Given the description of an element on the screen output the (x, y) to click on. 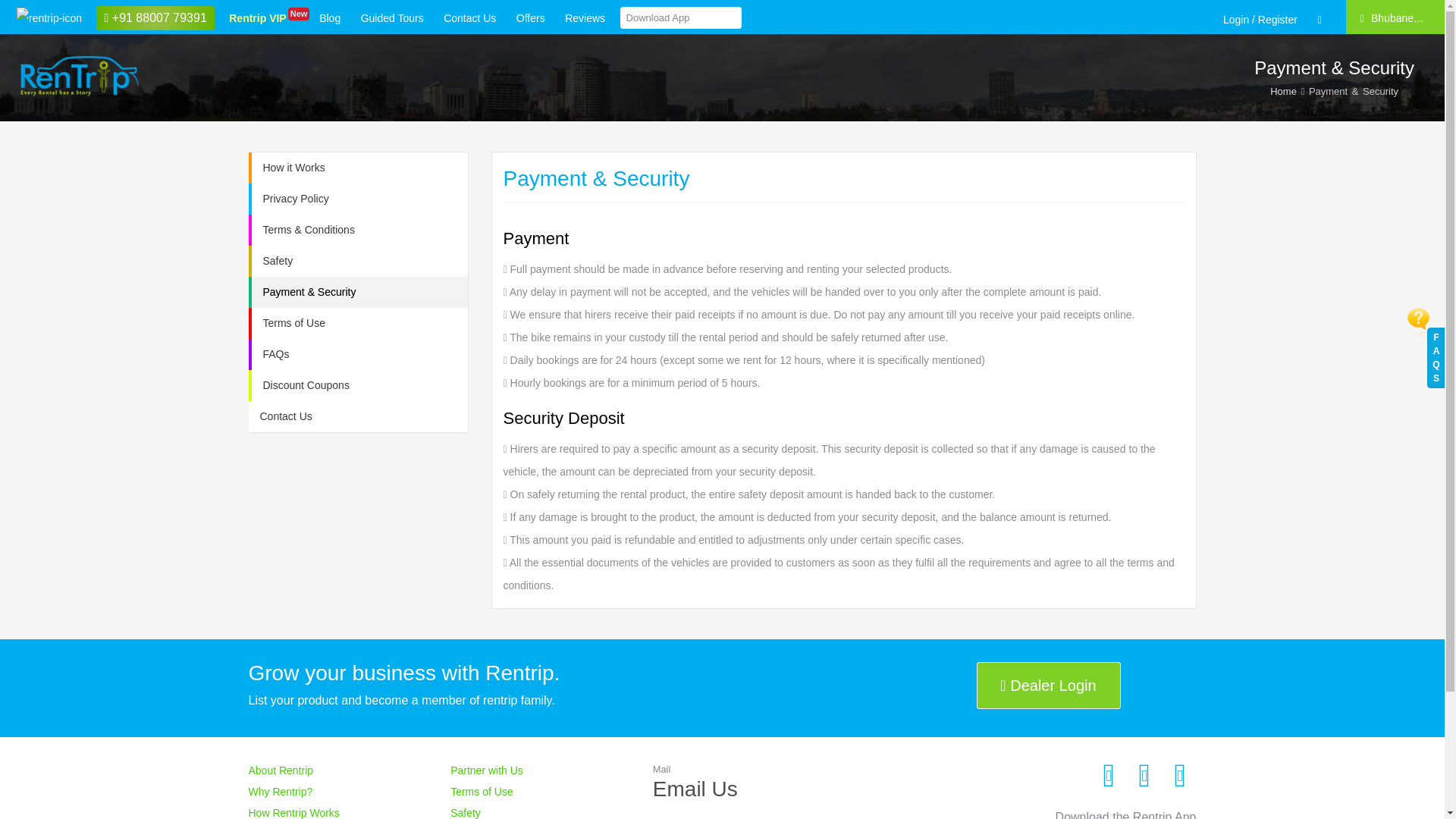
Bhubaneswar (1393, 17)
Contact Us (469, 17)
Reviews (584, 17)
Offers (530, 17)
Blog (257, 17)
Guided Tours (330, 17)
